Given the description of an element on the screen output the (x, y) to click on. 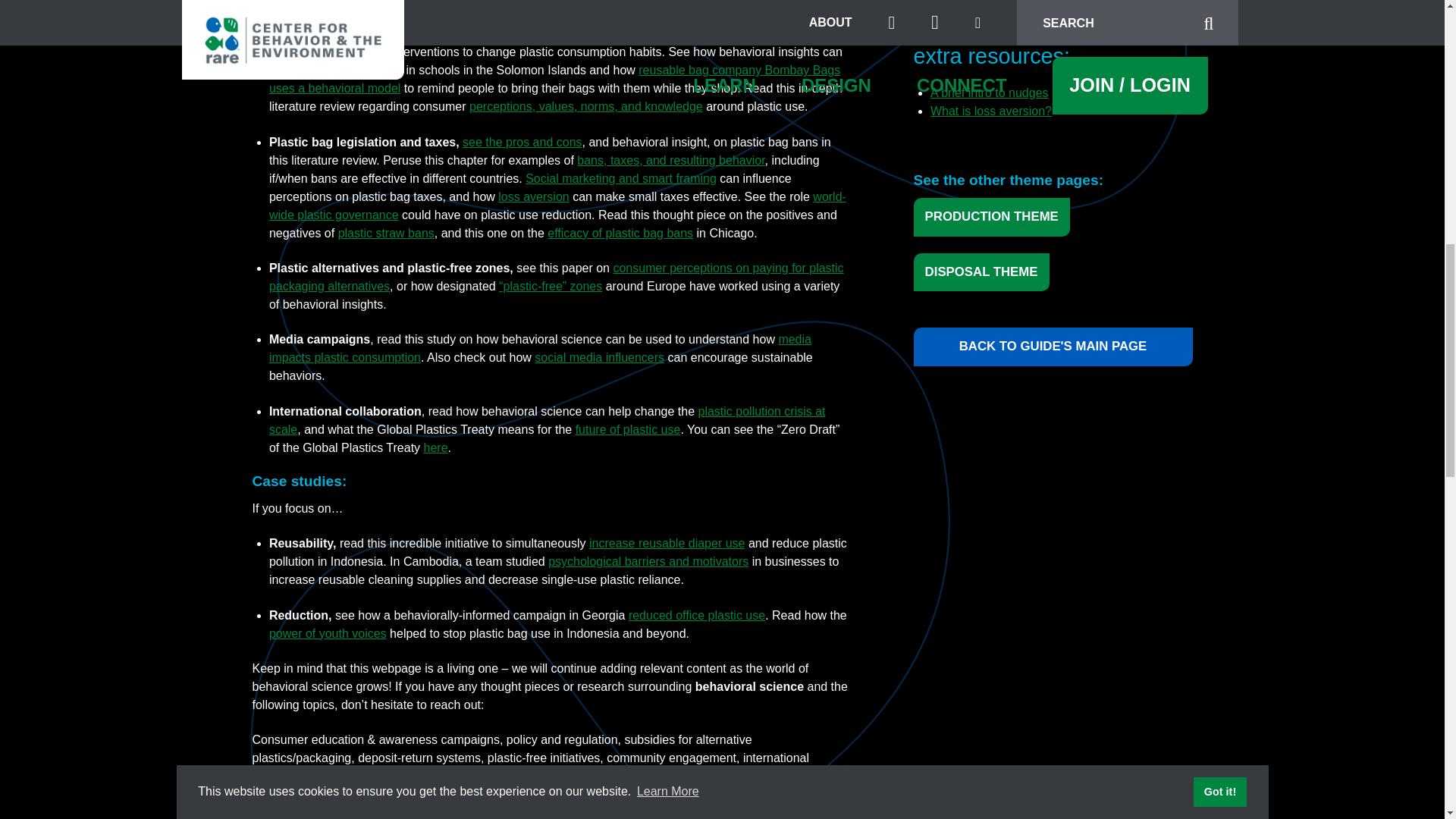
green nudge (329, 15)
psychological and social drivers (593, 2)
